Given the description of an element on the screen output the (x, y) to click on. 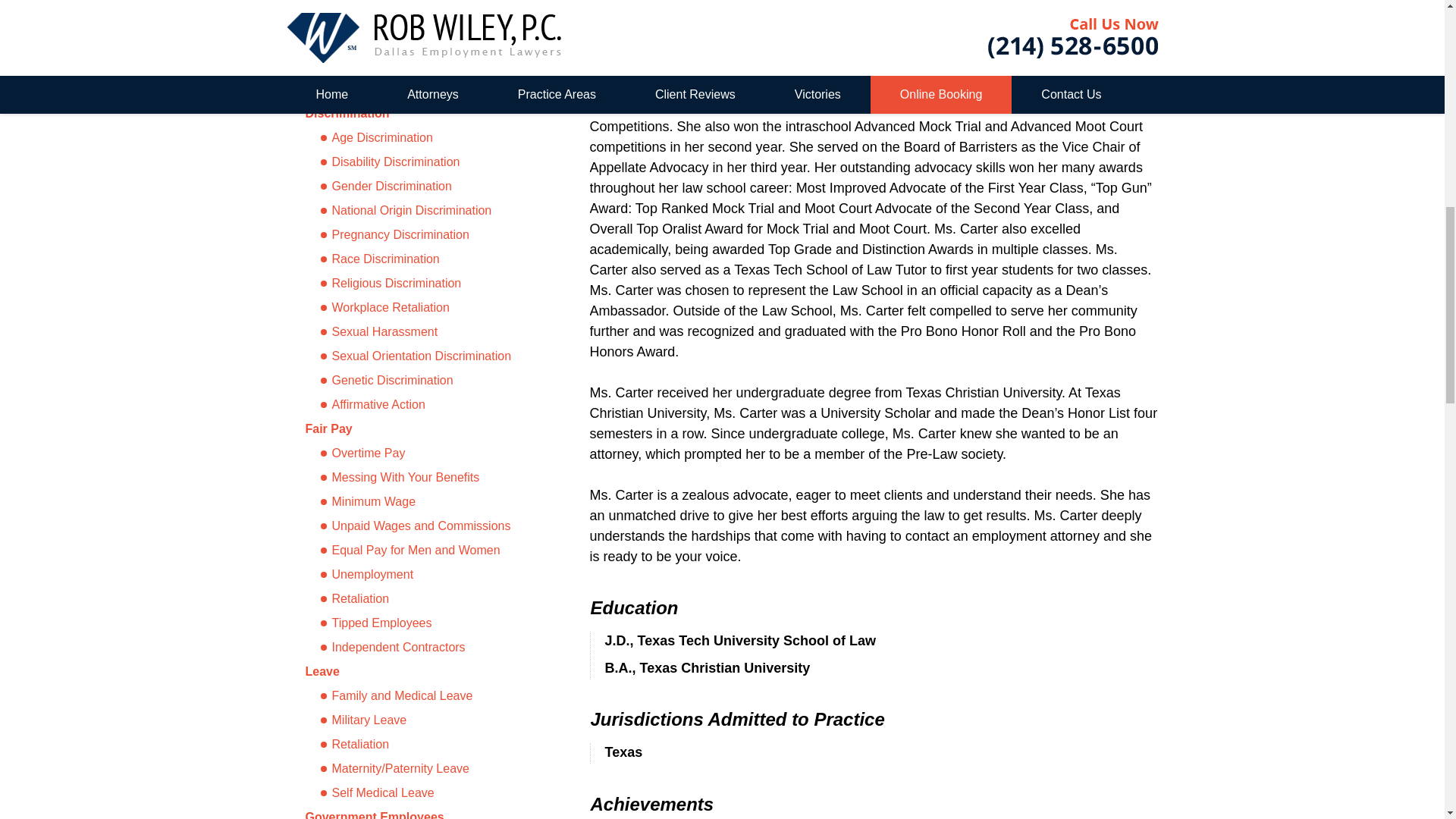
Fair Pay (328, 428)
Disability Discrimination (426, 162)
Minimum Wage (426, 502)
Tipped Employees (426, 623)
Messing With Your Benefits (426, 477)
Sexual Orientation Discrimination (426, 356)
Affirmative Action (426, 404)
Age Discrimination (426, 137)
Retaliation (426, 598)
National Origin Discrimination (426, 210)
Overtime Pay (426, 453)
Discrimination (346, 113)
Unemployment (426, 574)
Gender Discrimination (426, 186)
Pregnancy Discrimination (426, 235)
